Given the description of an element on the screen output the (x, y) to click on. 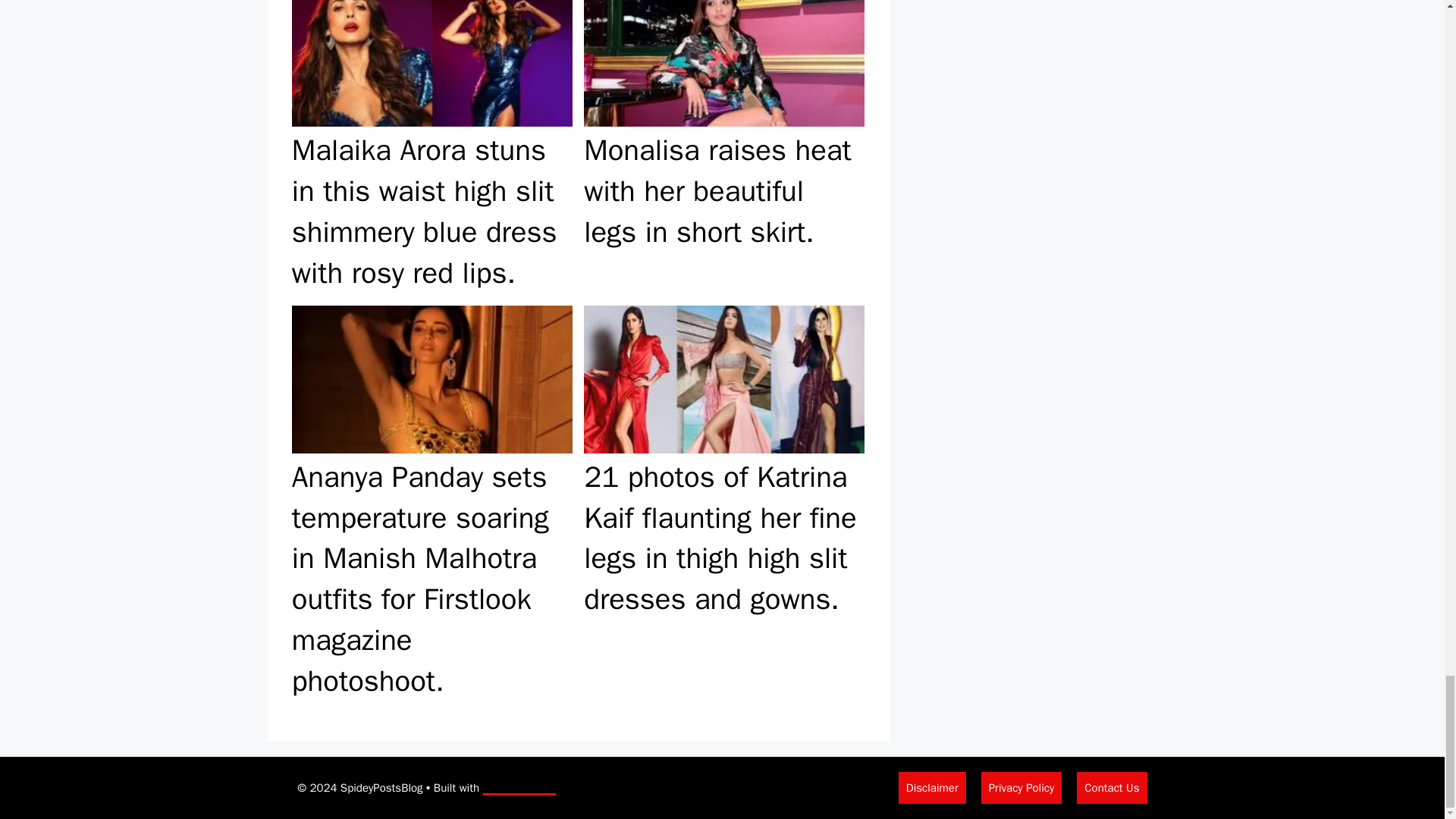
Monalisa raises heat with her beautiful legs in short skirt. (723, 149)
